Given the description of an element on the screen output the (x, y) to click on. 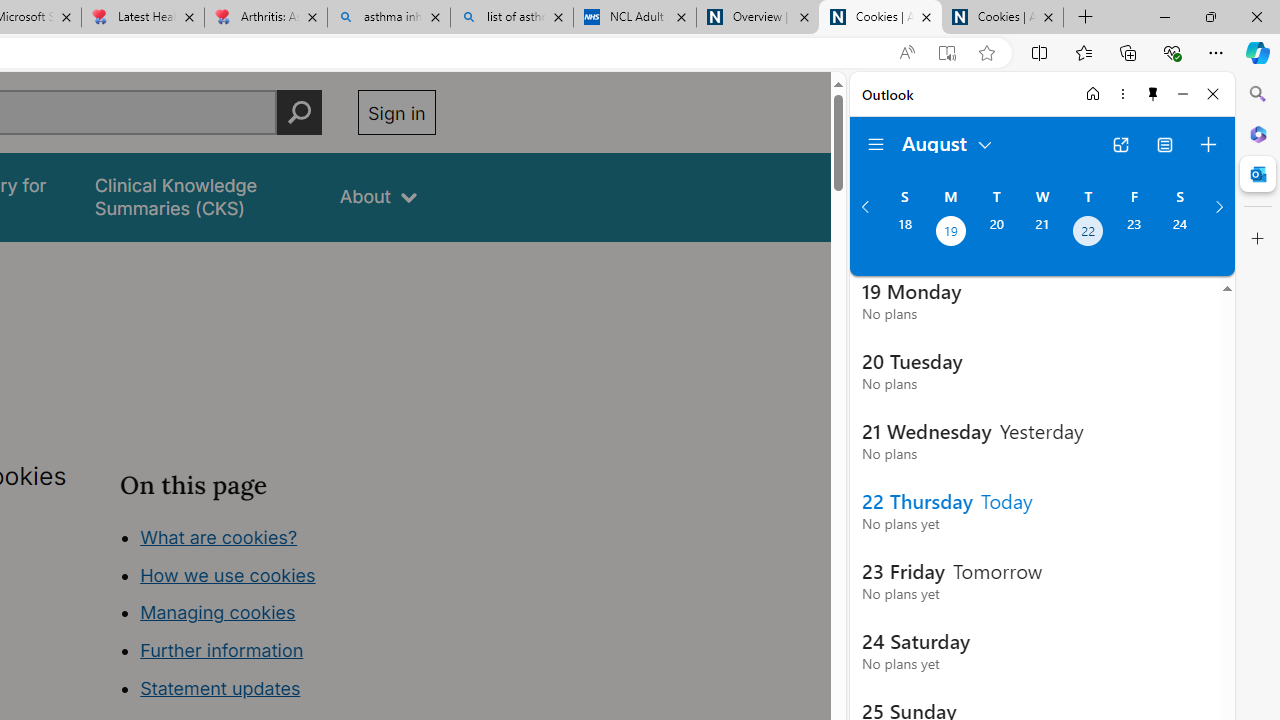
Arthritis: Ask Health Professionals (265, 17)
Cookies | About | NICE (1002, 17)
Statement updates (219, 688)
View Switcher. Current view is Agenda view (1165, 144)
Create event (1208, 144)
